Given the description of an element on the screen output the (x, y) to click on. 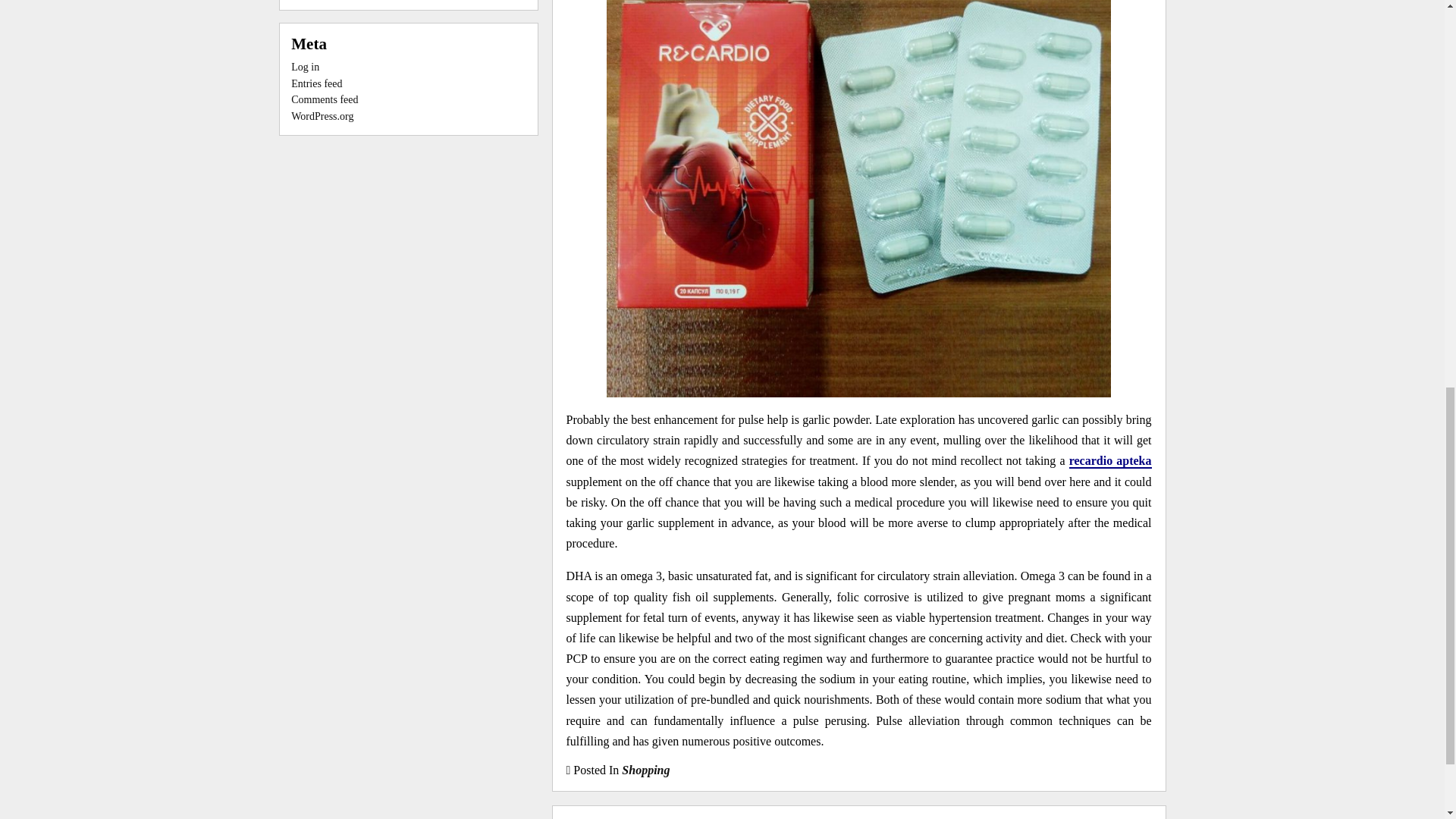
Shopping (645, 769)
recardio apteka (1109, 461)
